Given the description of an element on the screen output the (x, y) to click on. 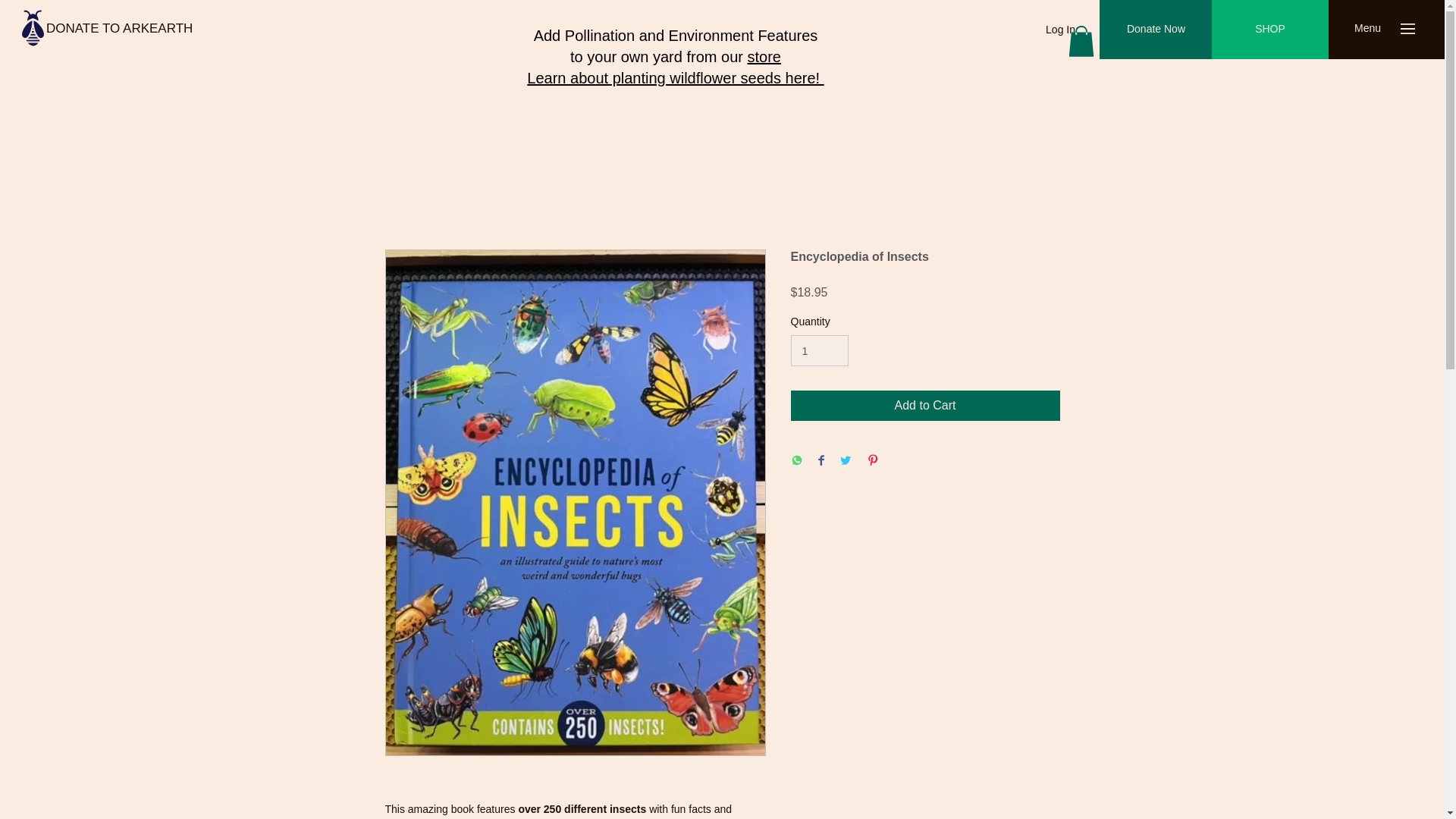
Log In (1060, 30)
DONATE TO ARKEARTH (119, 27)
Donate Now (1155, 29)
1 (818, 350)
Learn about planting wildflower seeds here!  (675, 77)
Add to Cart (924, 405)
SHOP (1269, 29)
store (763, 56)
